Given the description of an element on the screen output the (x, y) to click on. 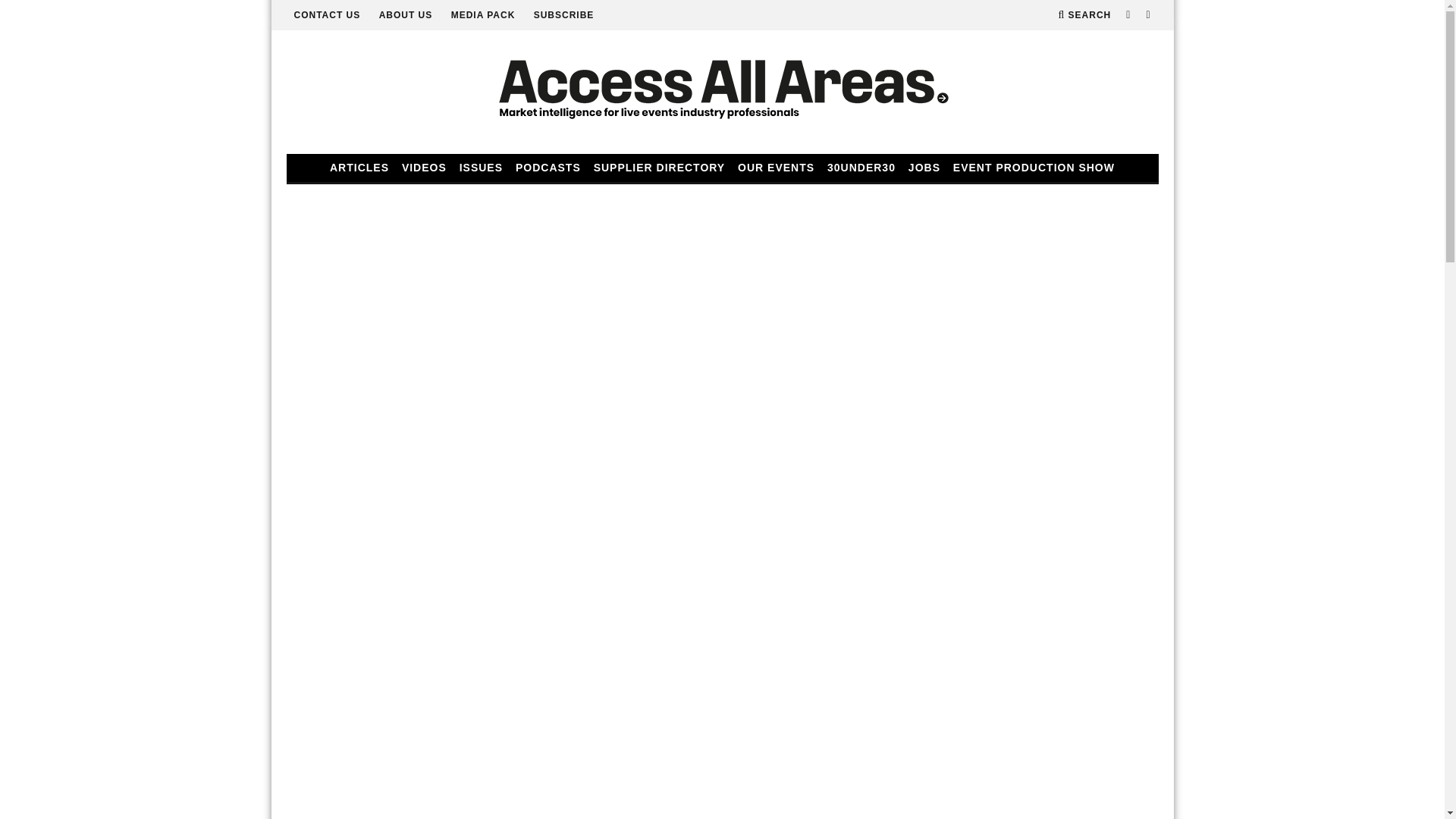
Log In (721, 413)
SUBSCRIBE (564, 15)
Search (1084, 15)
ARTICLES (358, 167)
MEDIA PACK (483, 15)
CONTACT US (327, 15)
VIDEOS (424, 167)
SEARCH (1084, 15)
ABOUT US (405, 15)
